Given the description of an element on the screen output the (x, y) to click on. 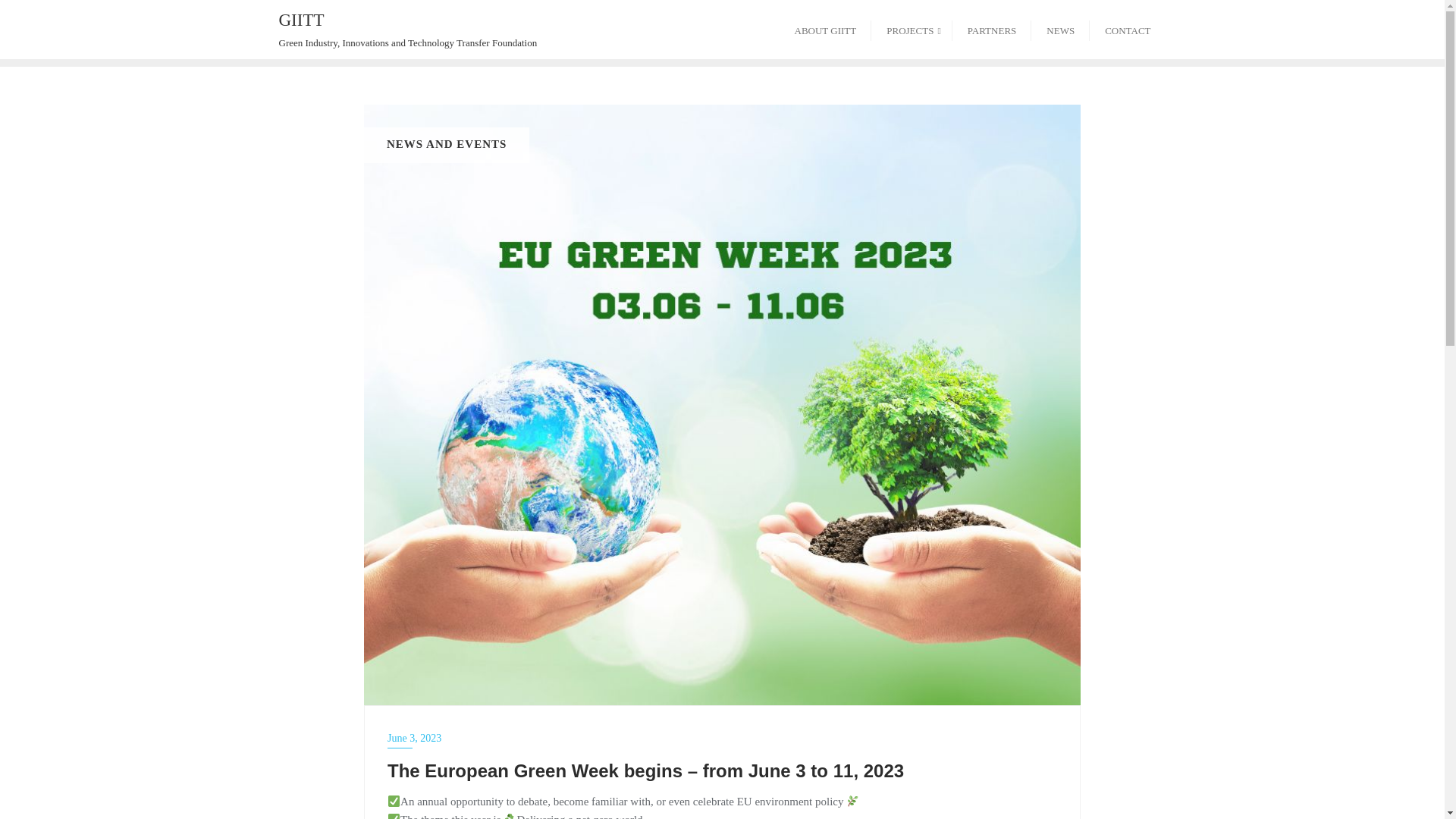
CONTACT (1127, 29)
June 3, 2023 (722, 737)
NEWS (1059, 29)
PARTNERS (992, 29)
PROJECTS (911, 29)
ABOUT GIITT (825, 29)
